Given the description of an element on the screen output the (x, y) to click on. 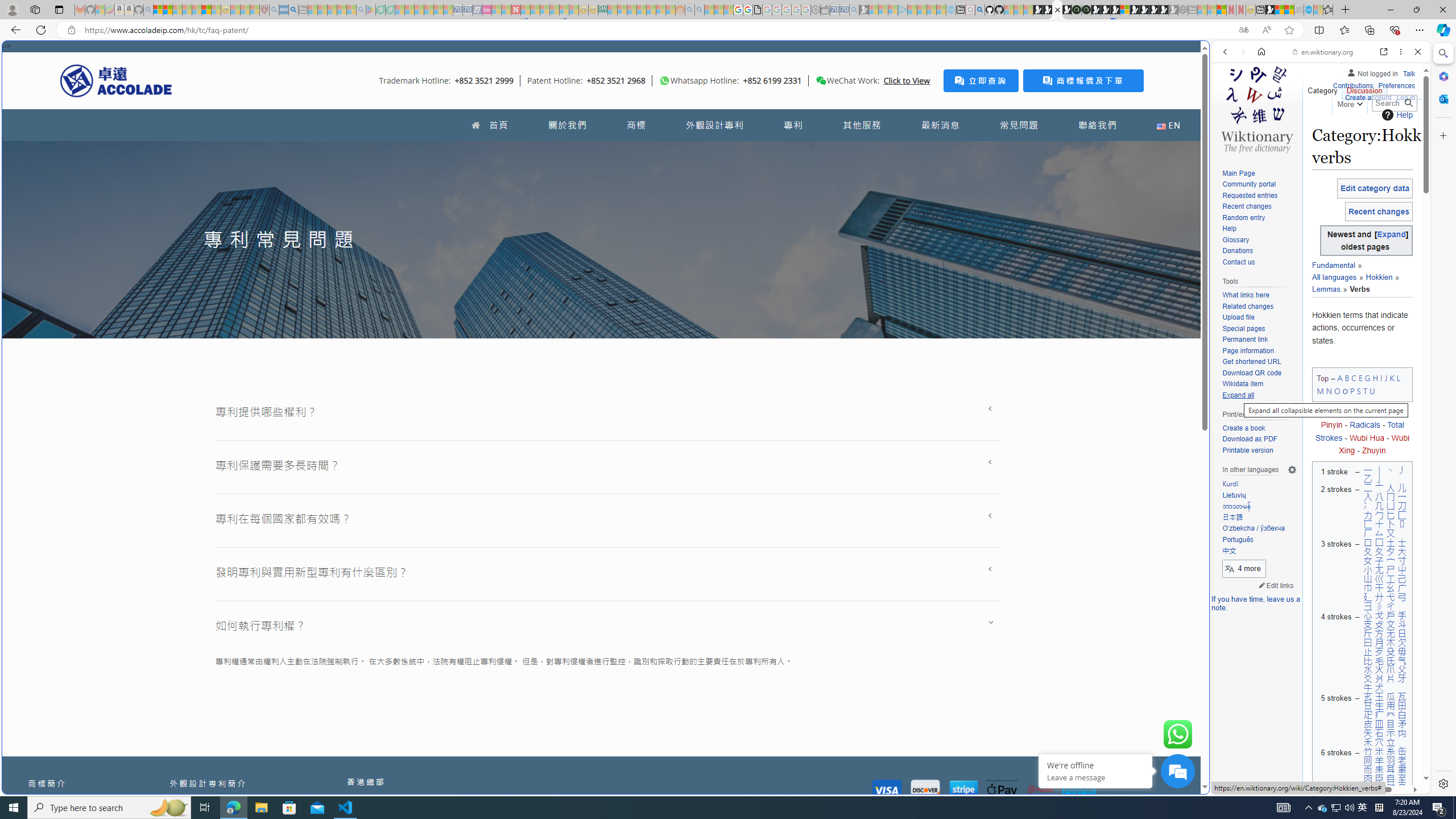
Download as PDF (1259, 439)
Page information (1259, 351)
